Given the description of an element on the screen output the (x, y) to click on. 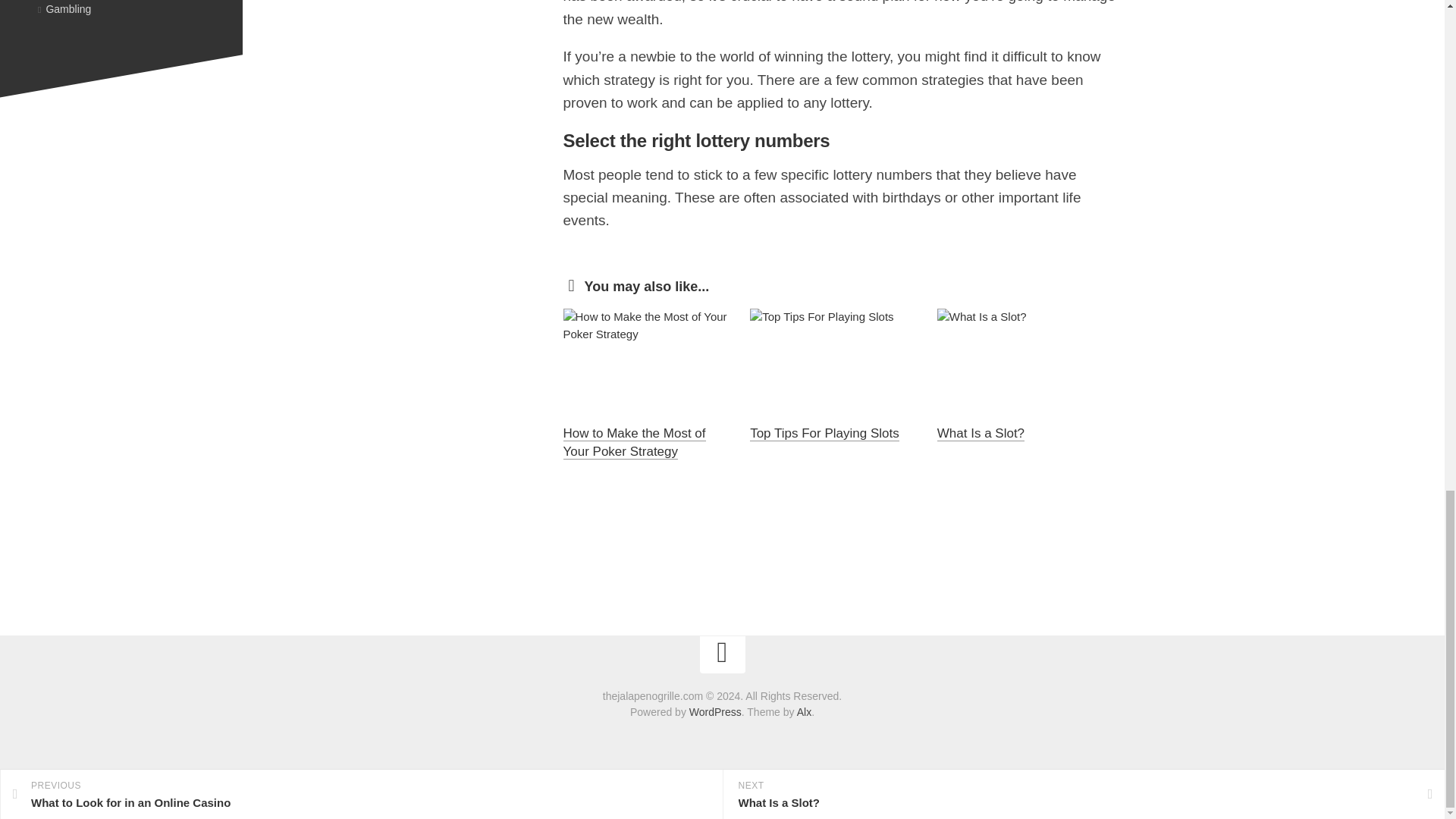
How to Make the Most of Your Poker Strategy (633, 441)
What Is a Slot? (981, 432)
Top Tips For Playing Slots (824, 432)
